Given the description of an element on the screen output the (x, y) to click on. 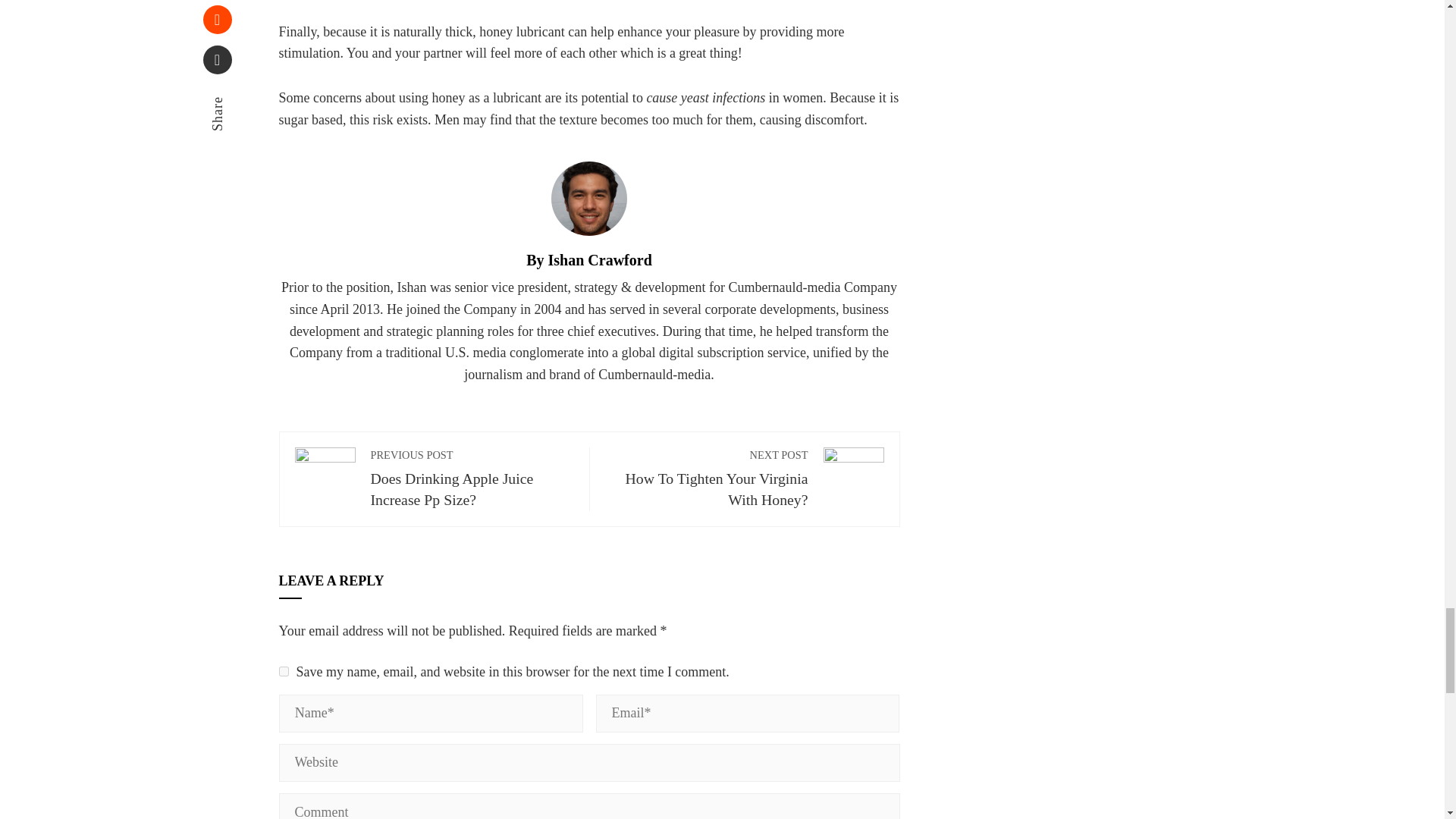
yes (283, 671)
